Given the description of an element on the screen output the (x, y) to click on. 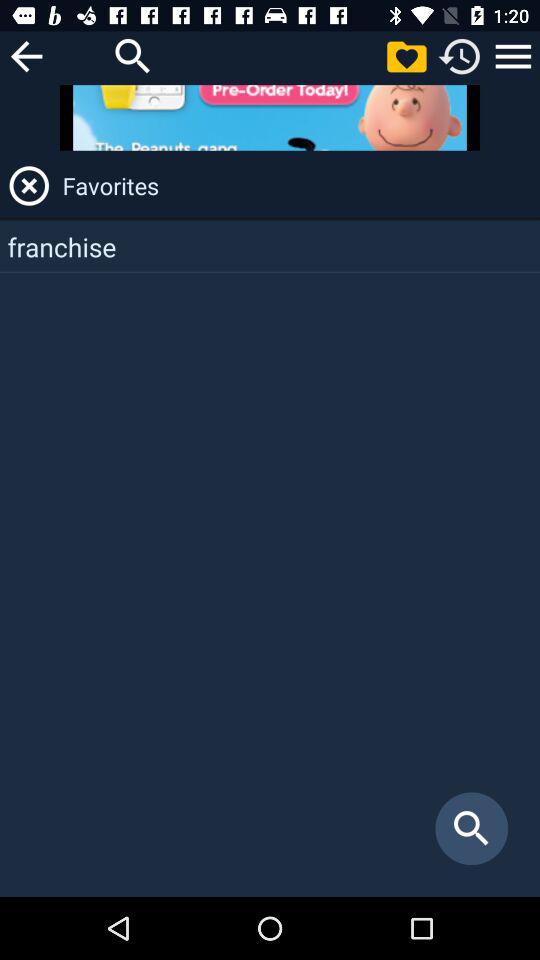
search (133, 56)
